Given the description of an element on the screen output the (x, y) to click on. 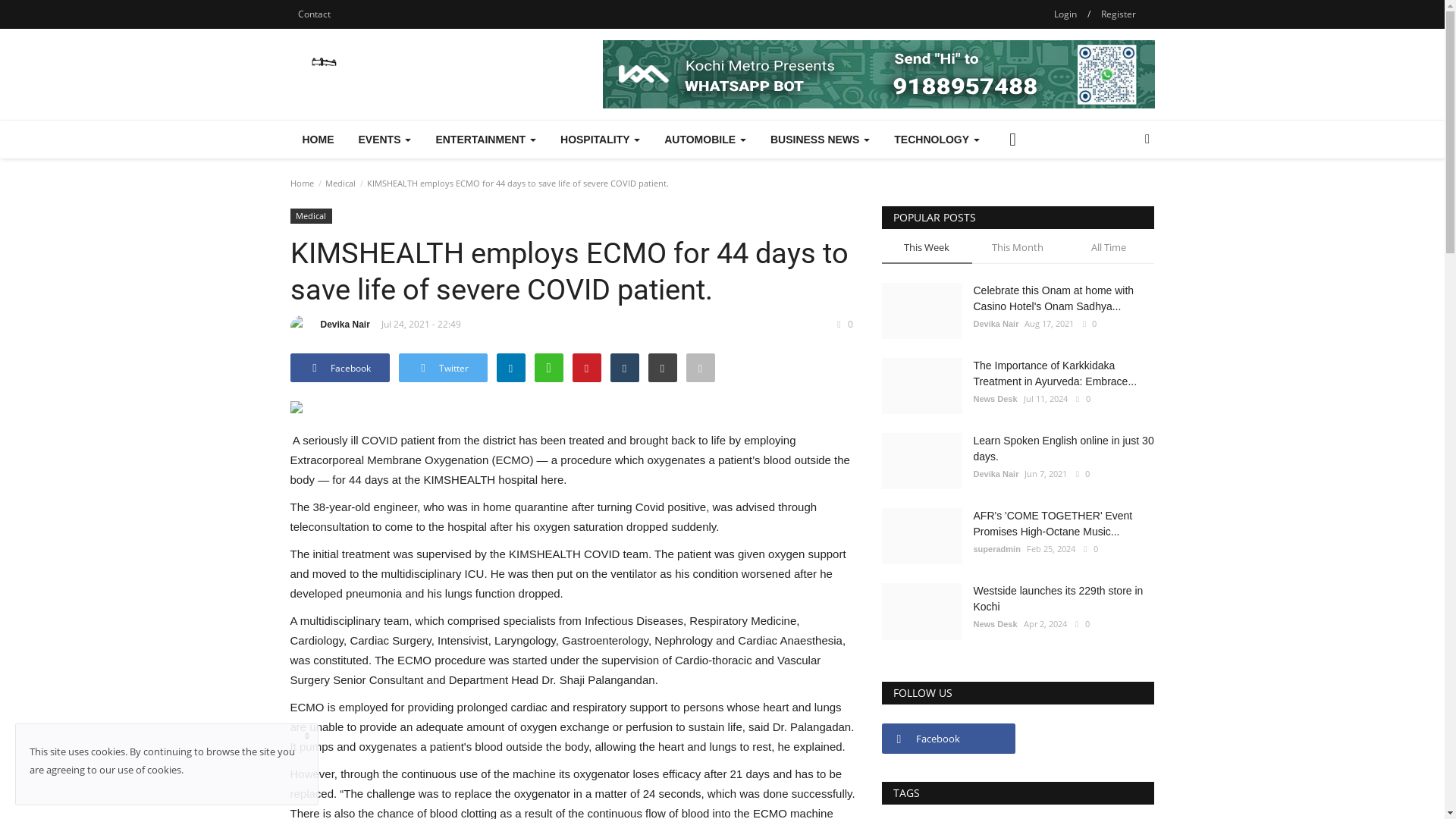
Register (1117, 14)
Contact (313, 14)
Login (1065, 14)
EVENTS (384, 139)
HOME (317, 139)
Add to Reading List (699, 367)
